Given the description of an element on the screen output the (x, y) to click on. 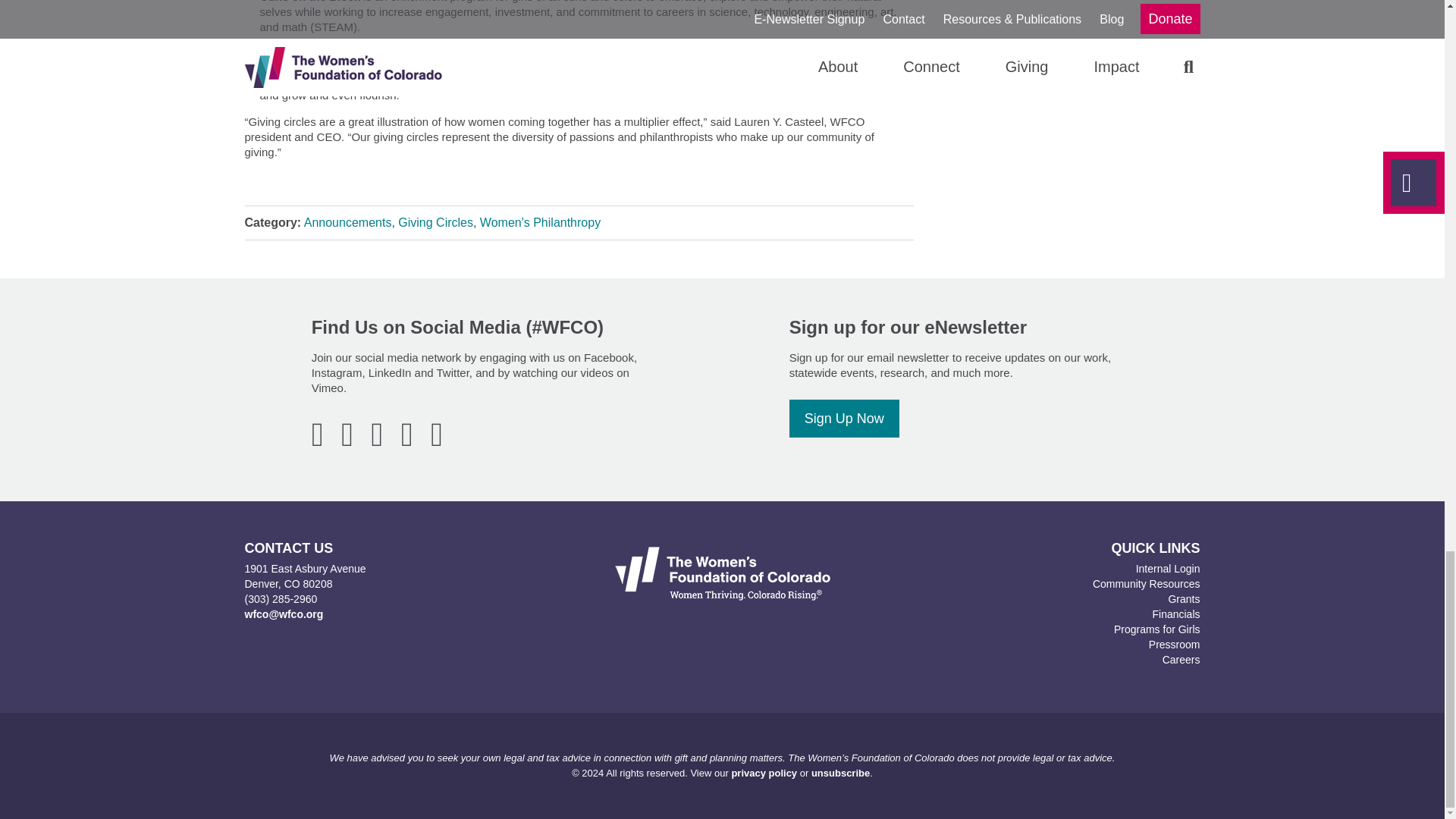
Women's Philanthropy (539, 222)
Announcements (347, 222)
Giving Circles (435, 222)
